Given the description of an element on the screen output the (x, y) to click on. 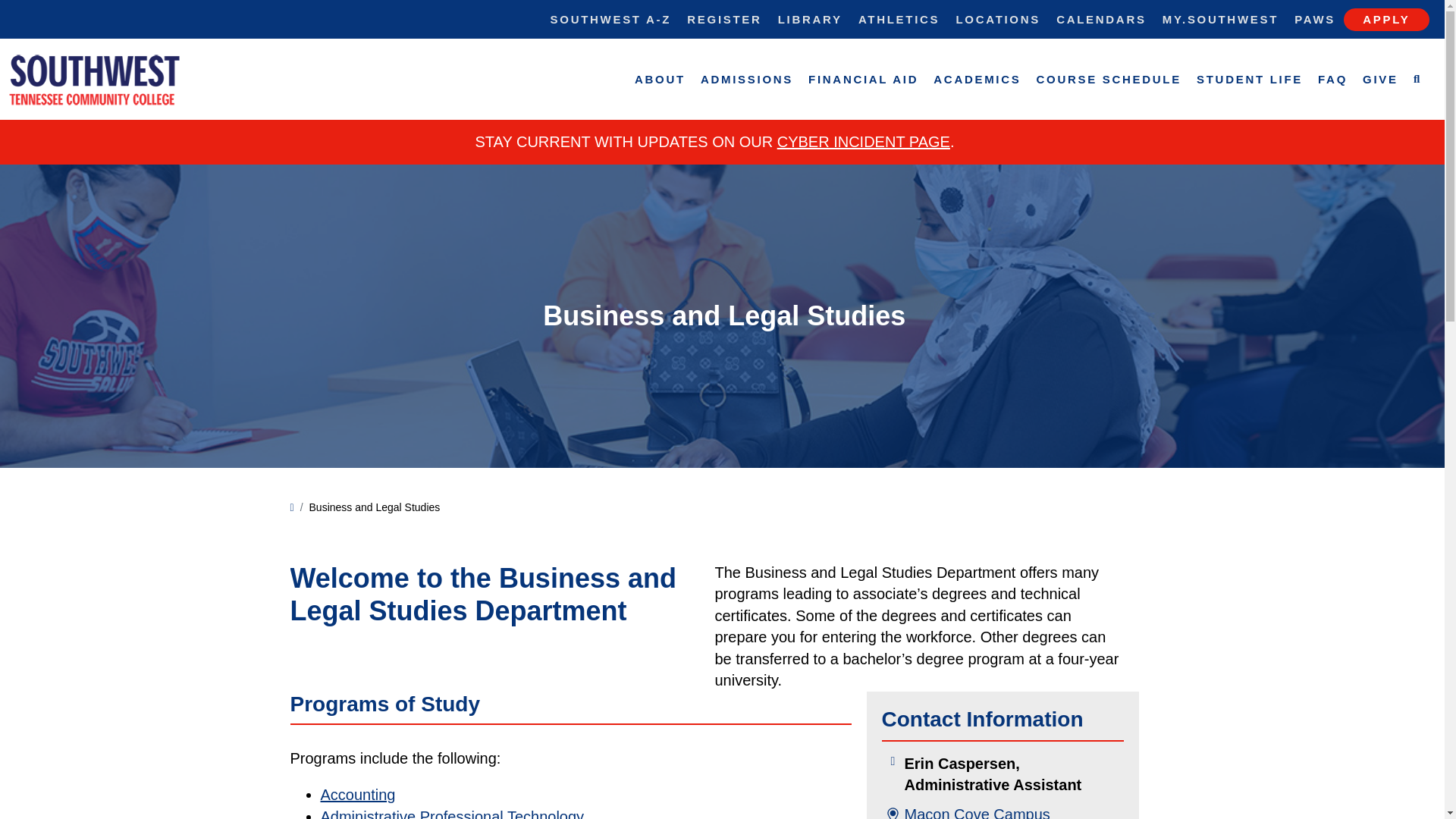
APPLY (1386, 19)
FAQ (1332, 78)
GIVE (1380, 78)
MY.SOUTHWEST (1219, 19)
ACADEMICS (976, 78)
ABOUT (660, 78)
LIBRARY (810, 19)
LOCATIONS (997, 19)
STUDENT LIFE (1249, 78)
SOUTHWEST A-Z (610, 19)
